Given the description of an element on the screen output the (x, y) to click on. 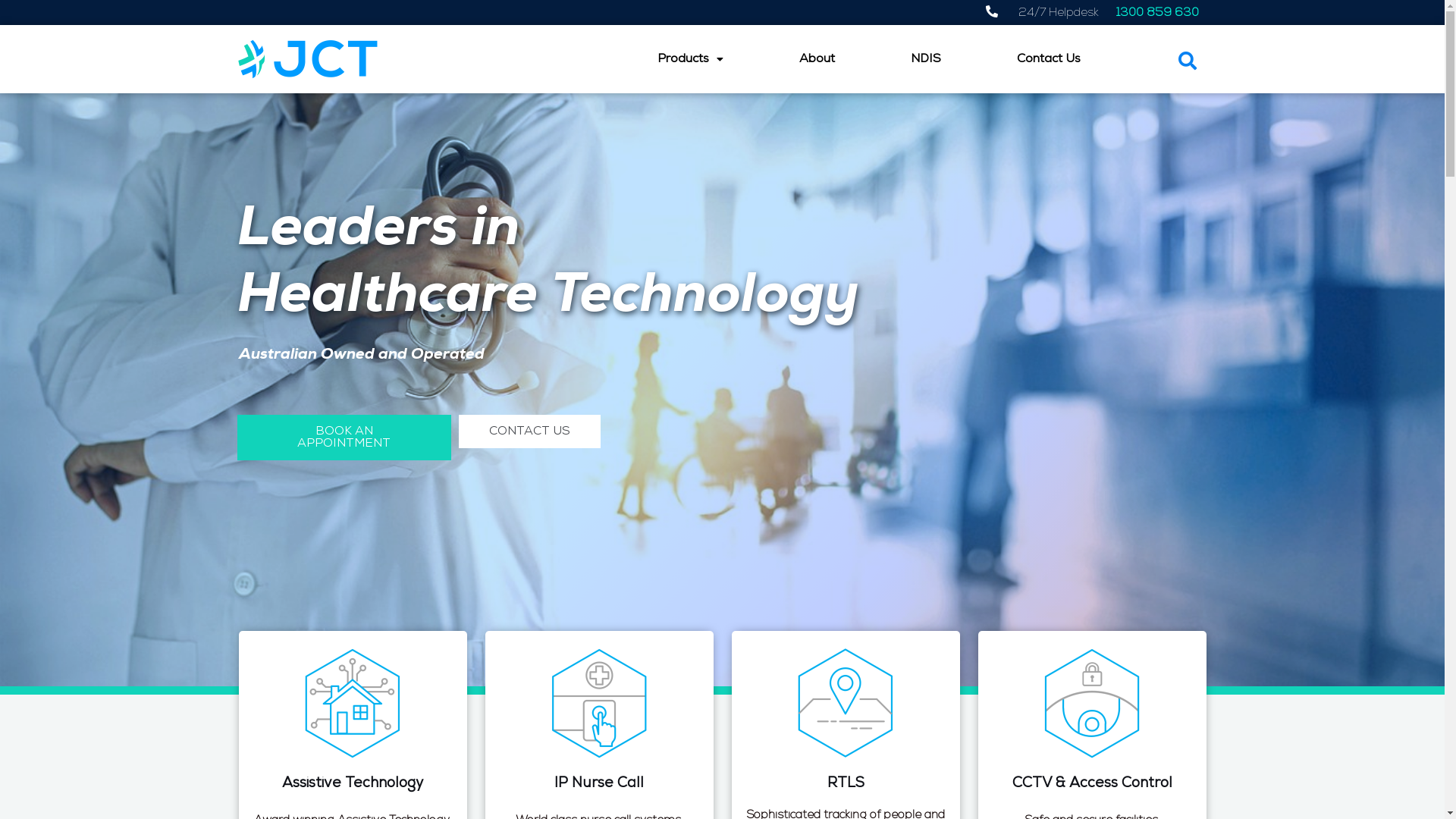
Search Element type: hover (1182, 60)
About Element type: text (816, 59)
JCT Healthcare Technology Element type: hover (312, 58)
1300 859 630 Element type: text (1156, 12)
IP-Nurse-call Element type: hover (599, 702)
assistive-tech Element type: hover (352, 702)
BOOK AN APPOINTMENT Element type: text (343, 437)
rtls Element type: hover (845, 702)
Products Element type: text (690, 59)
NDIS Element type: text (925, 59)
cctv-access-control Element type: hover (1091, 702)
CONTACT US Element type: text (529, 431)
Contact Us Element type: text (1048, 59)
